Given the description of an element on the screen output the (x, y) to click on. 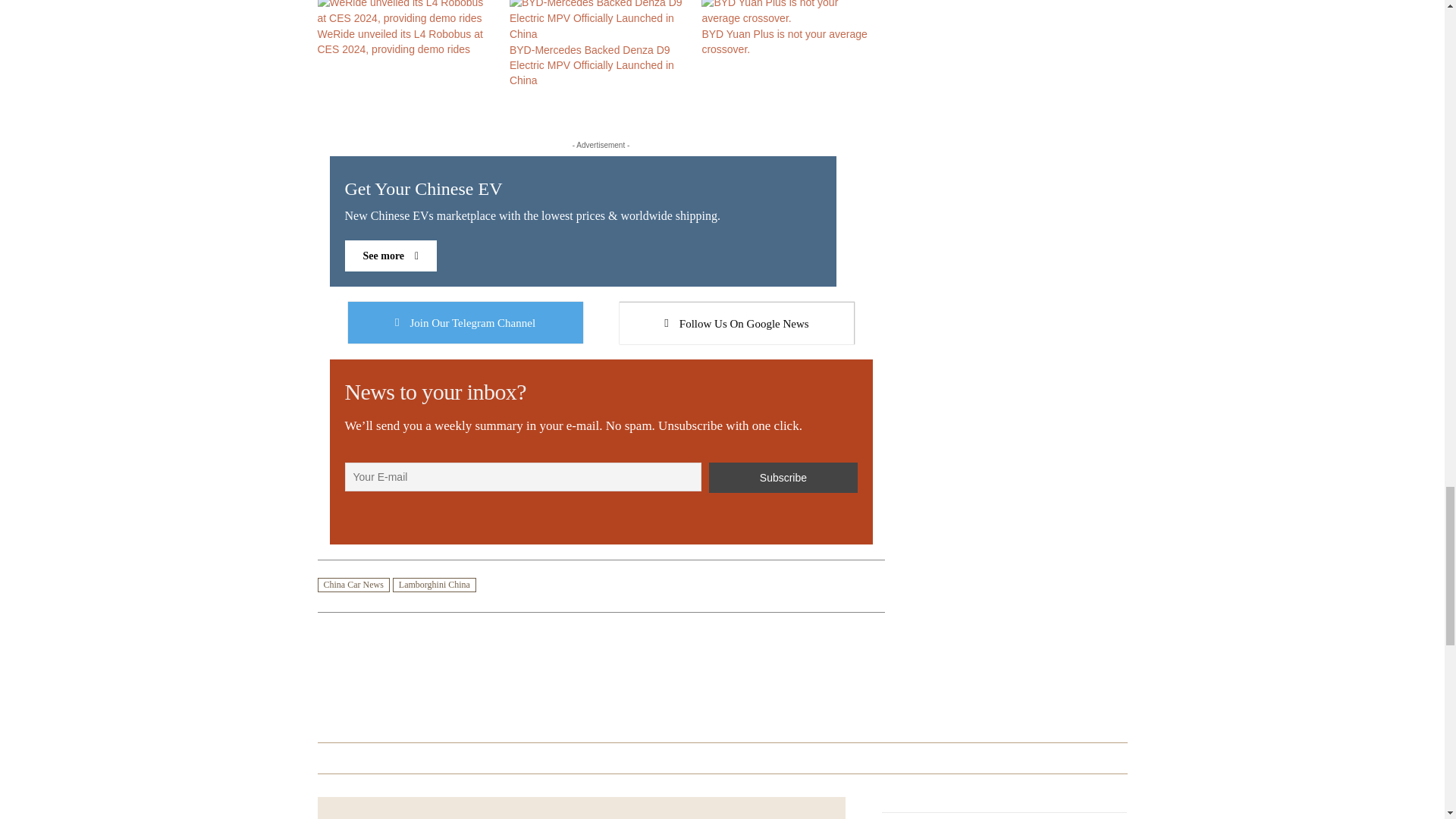
Subscribe (600, 330)
